Given the description of an element on the screen output the (x, y) to click on. 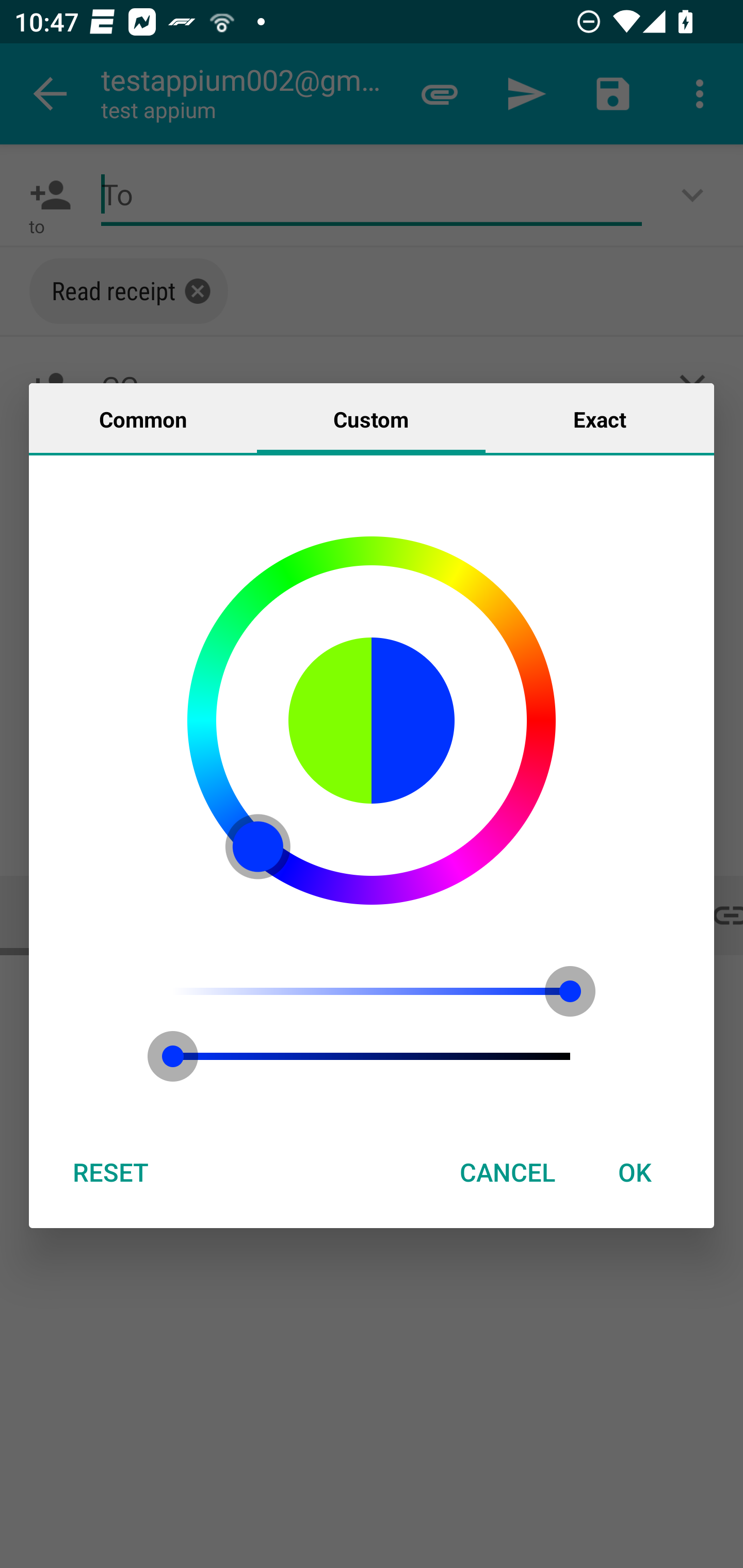
Common (142, 418)
Custom (371, 418)
Exact (599, 418)
RESET (110, 1171)
CANCEL (507, 1171)
OK (634, 1171)
